Given the description of an element on the screen output the (x, y) to click on. 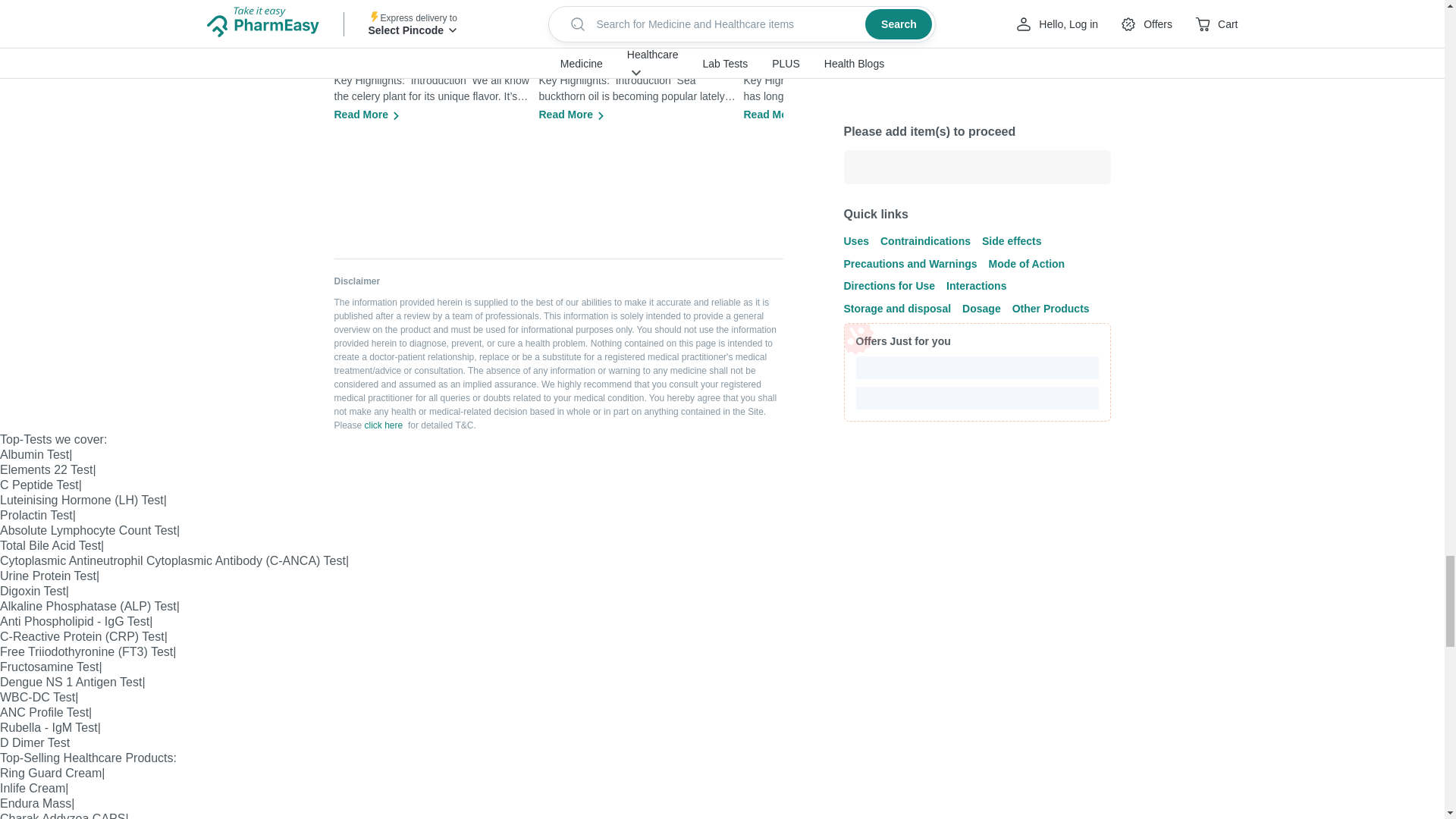
click here (384, 425)
